Given the description of an element on the screen output the (x, y) to click on. 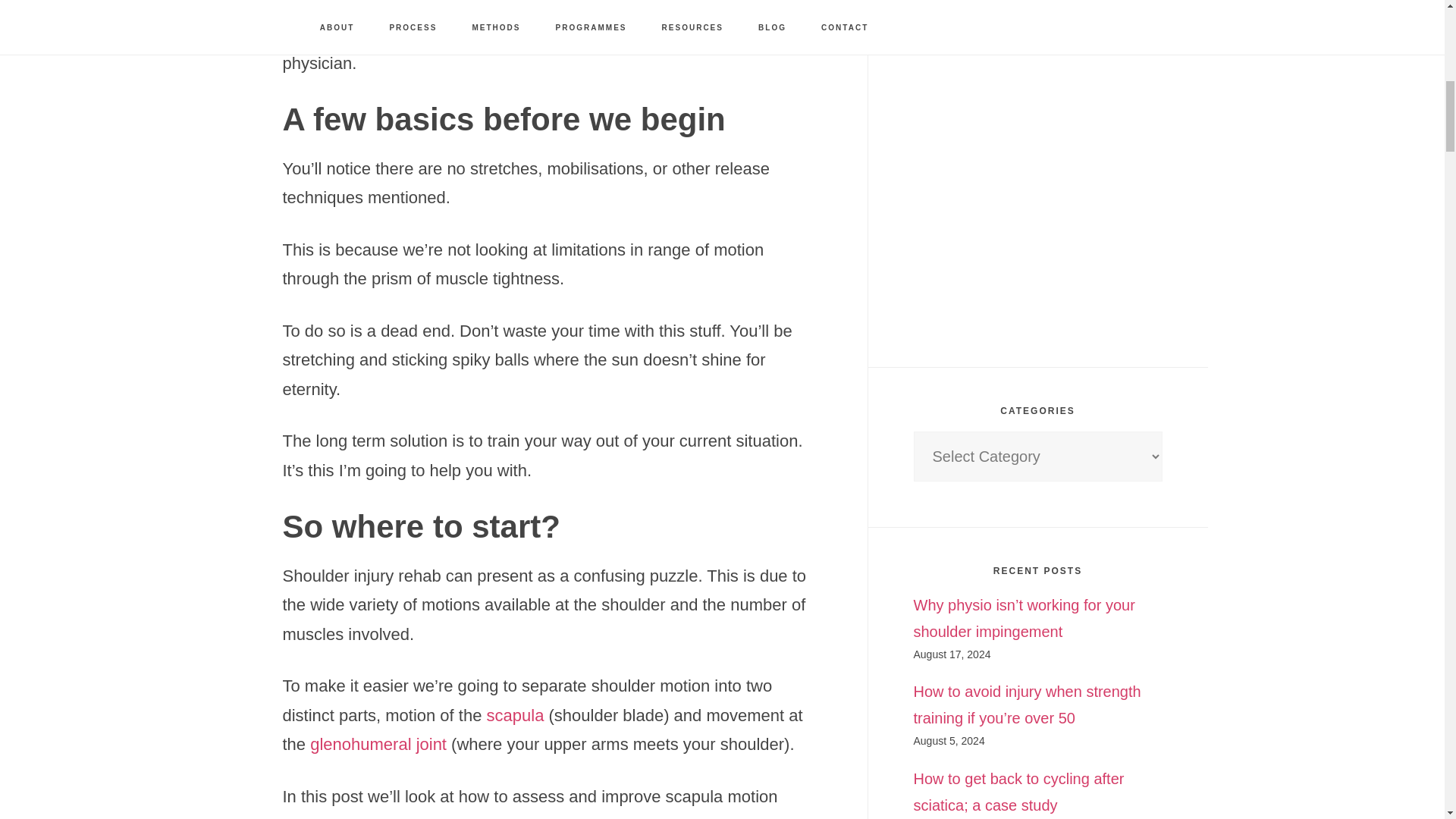
scapula (517, 714)
How to get back to cycling after sciatica; a case study (1018, 792)
shoulder function. (482, 817)
glenohumeral joint (380, 743)
